Given the description of an element on the screen output the (x, y) to click on. 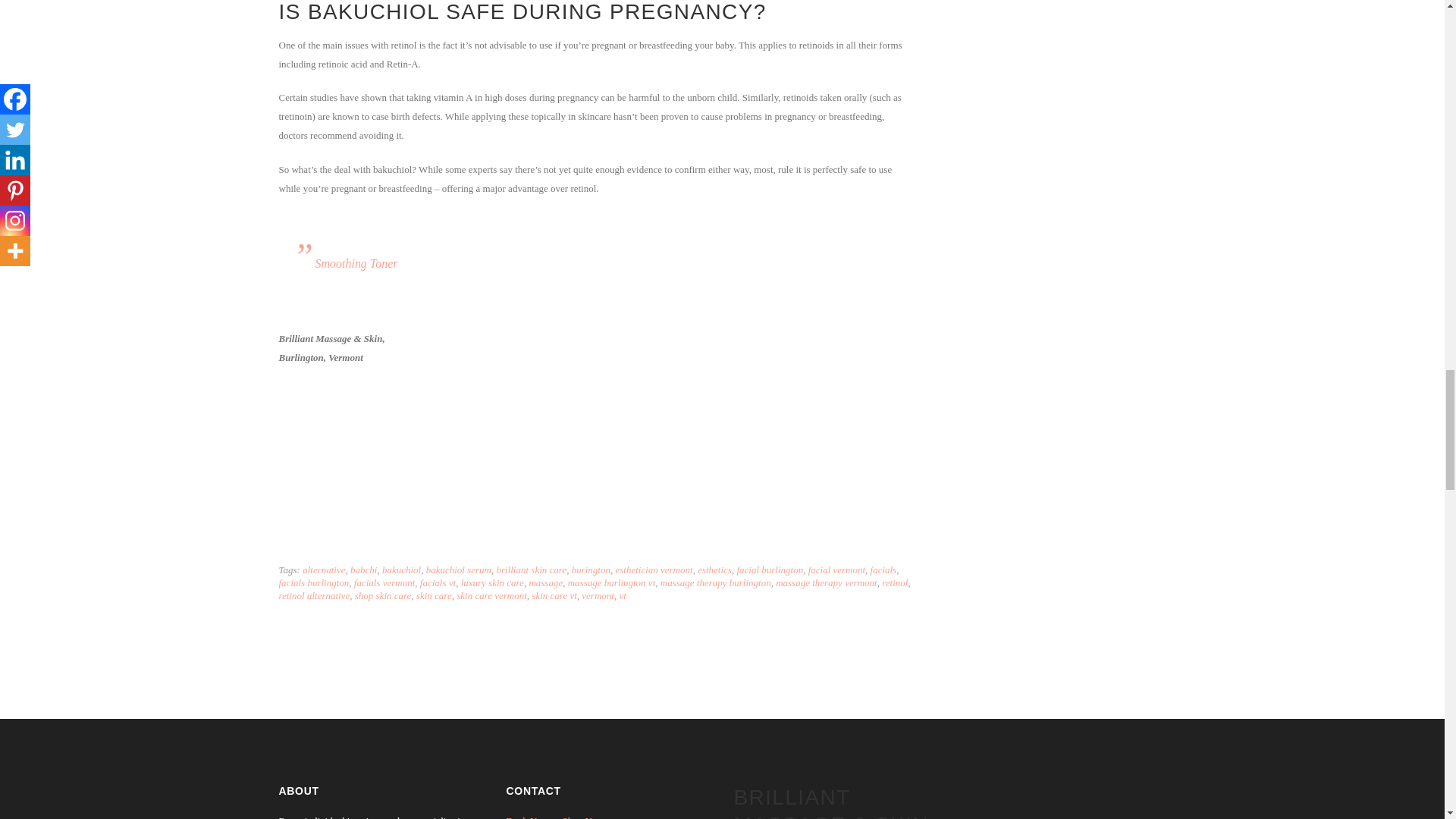
massage therapy vermont (826, 582)
massage burlington vt (611, 582)
burington (591, 569)
bakuchiol serum (459, 569)
luxury skin care (492, 582)
facials vt (437, 582)
esthetician vermont (653, 569)
babchi (363, 569)
facials (883, 569)
skin care vt (553, 595)
